Given the description of an element on the screen output the (x, y) to click on. 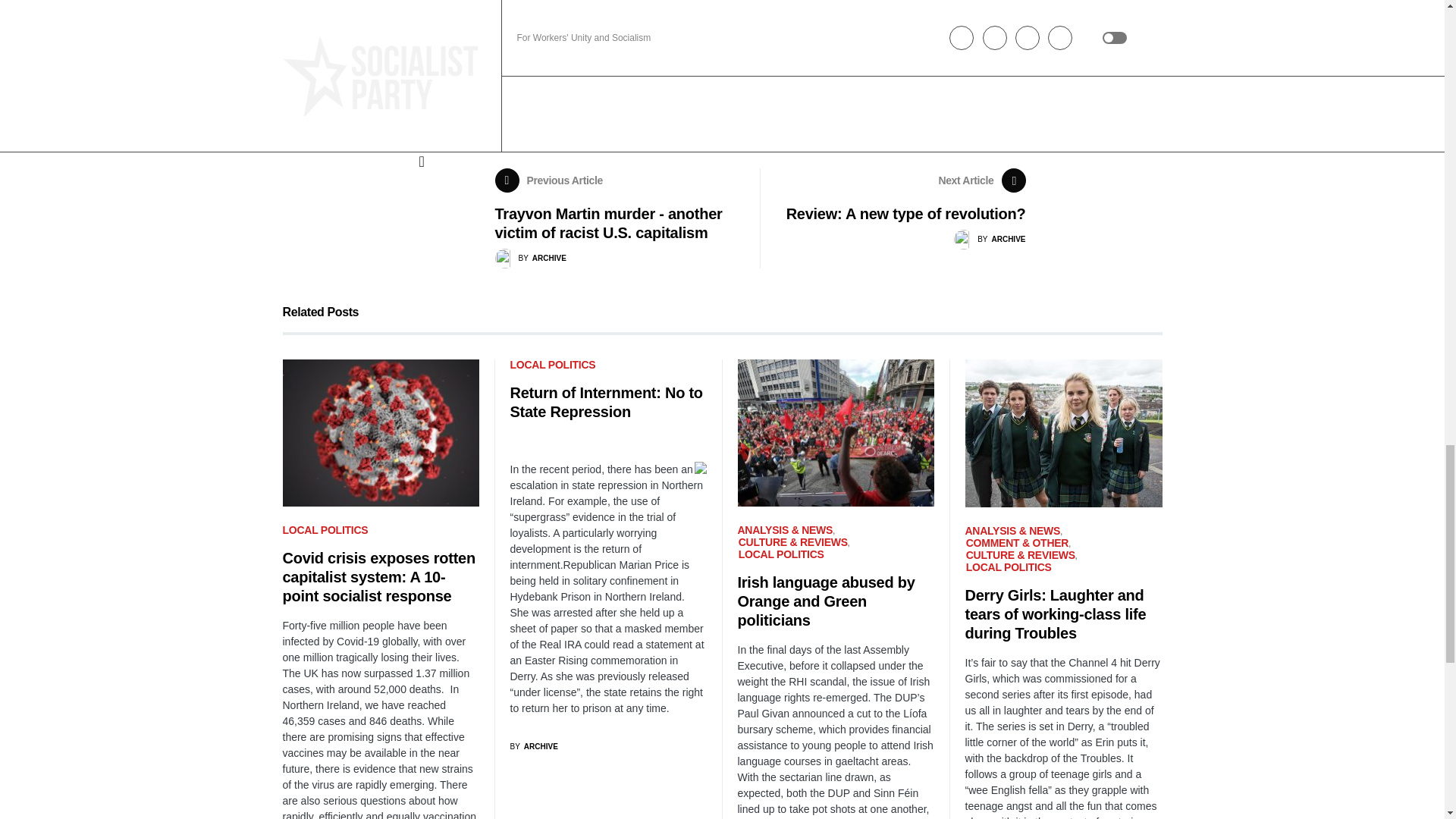
View all posts by Archive (533, 746)
View all posts by Archive (989, 239)
View all posts by Archive (530, 258)
